Given the description of an element on the screen output the (x, y) to click on. 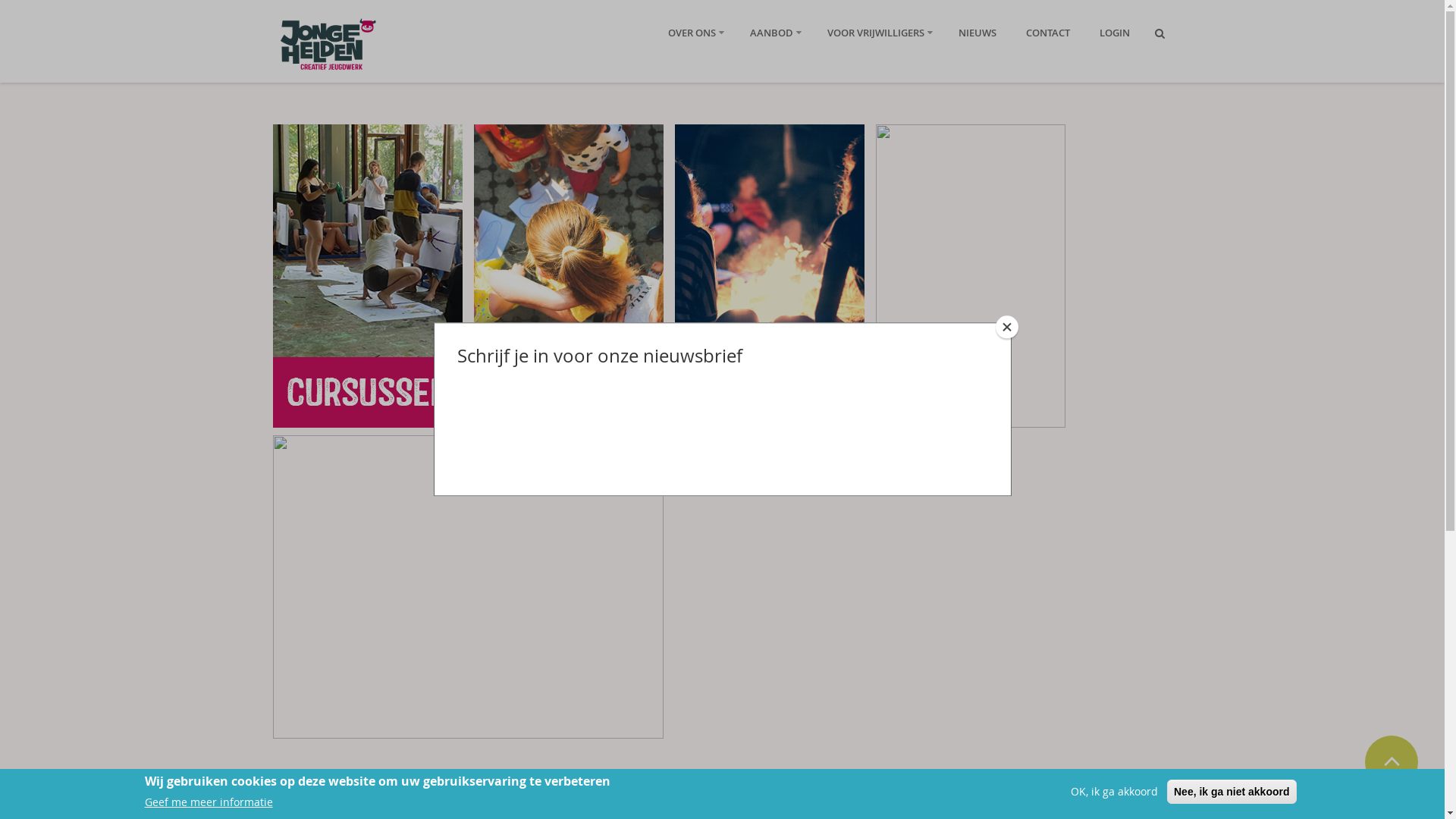
AANBOD Element type: text (770, 33)
Geef me meer informatie Element type: text (208, 801)
OK, ik ga akkoord Element type: text (1114, 791)
NIEUWS Element type: text (977, 33)
OVER ONS Element type: text (691, 33)
VOOR VRIJWILLIGERS Element type: text (874, 33)
Home Element type: hover (326, 44)
Overslaan en naar de inhoud gaan Element type: text (88, 0)
Nee, ik ga niet akkoord Element type: text (1231, 791)
CONTACT Element type: text (1047, 33)
LOGIN Element type: text (1114, 33)
